Given the description of an element on the screen output the (x, y) to click on. 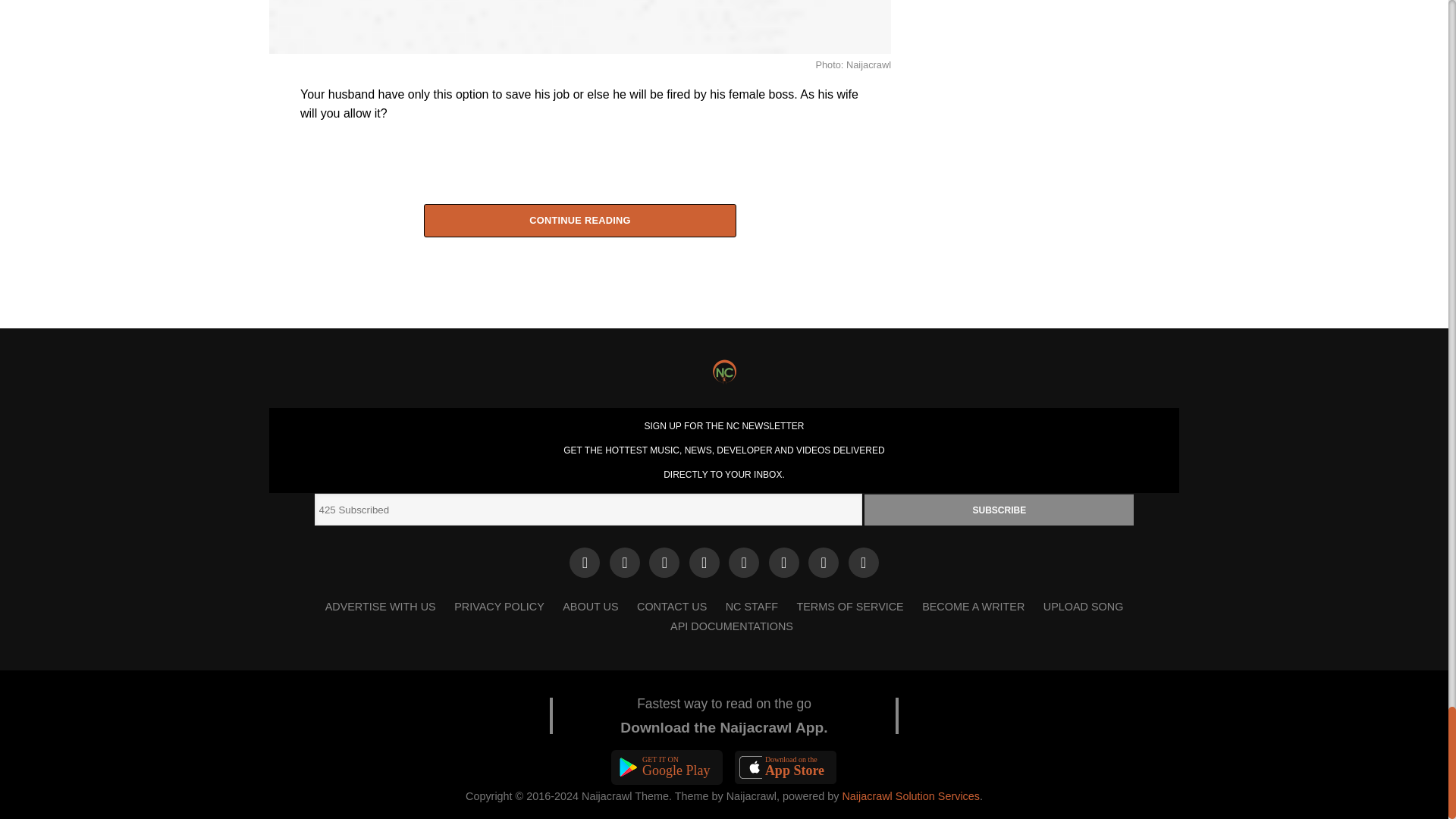
Subscribe (999, 509)
Google Play (667, 767)
App Store (785, 767)
